Given the description of an element on the screen output the (x, y) to click on. 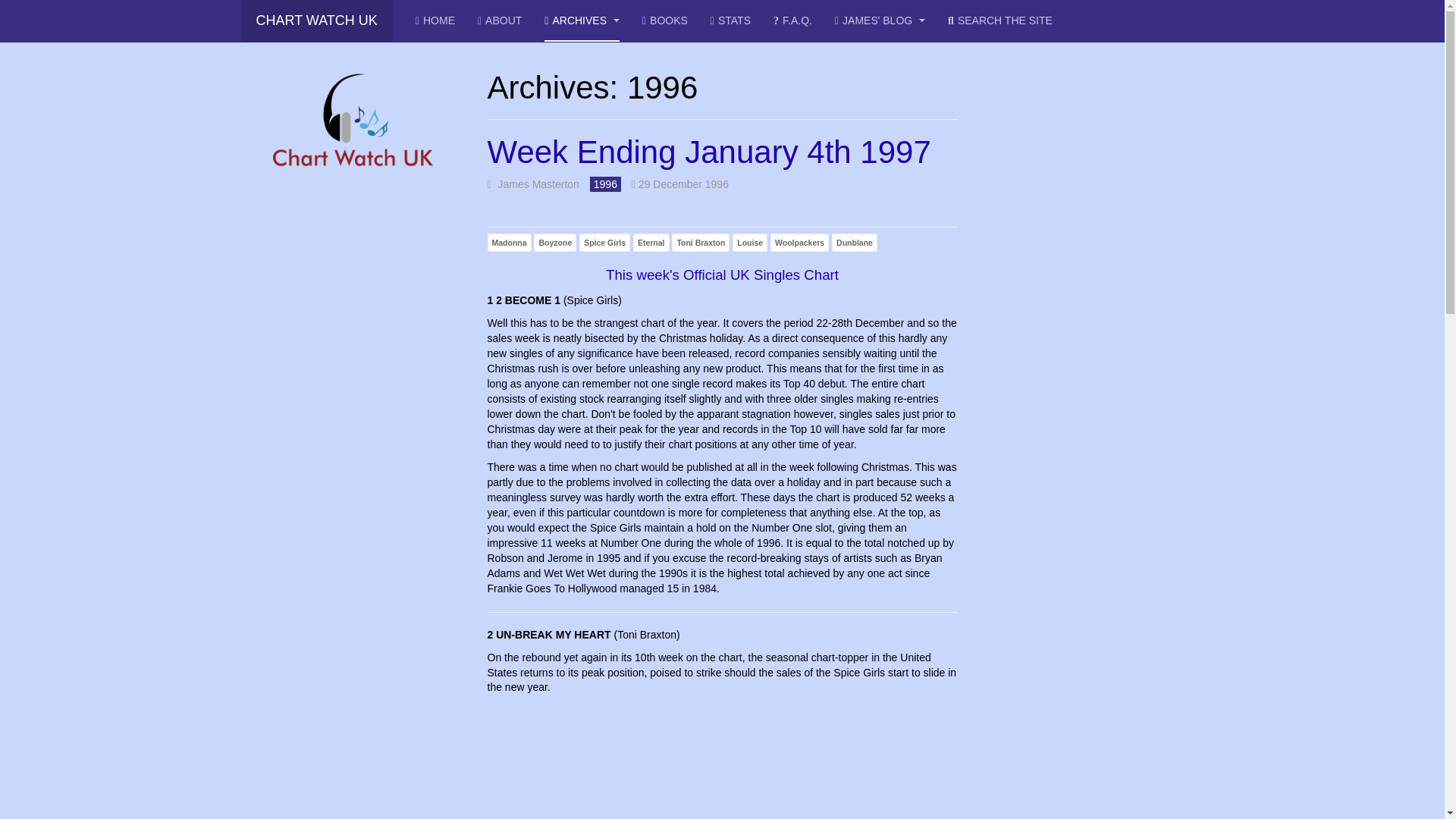
Category:  (605, 184)
STATS (730, 20)
HOME (434, 20)
Written by:  (532, 184)
BOOKS (664, 20)
Chart Watch UK (317, 20)
CHART WATCH UK (317, 20)
ARCHIVES (582, 20)
ABOUT (499, 20)
Published:  (680, 184)
